Given the description of an element on the screen output the (x, y) to click on. 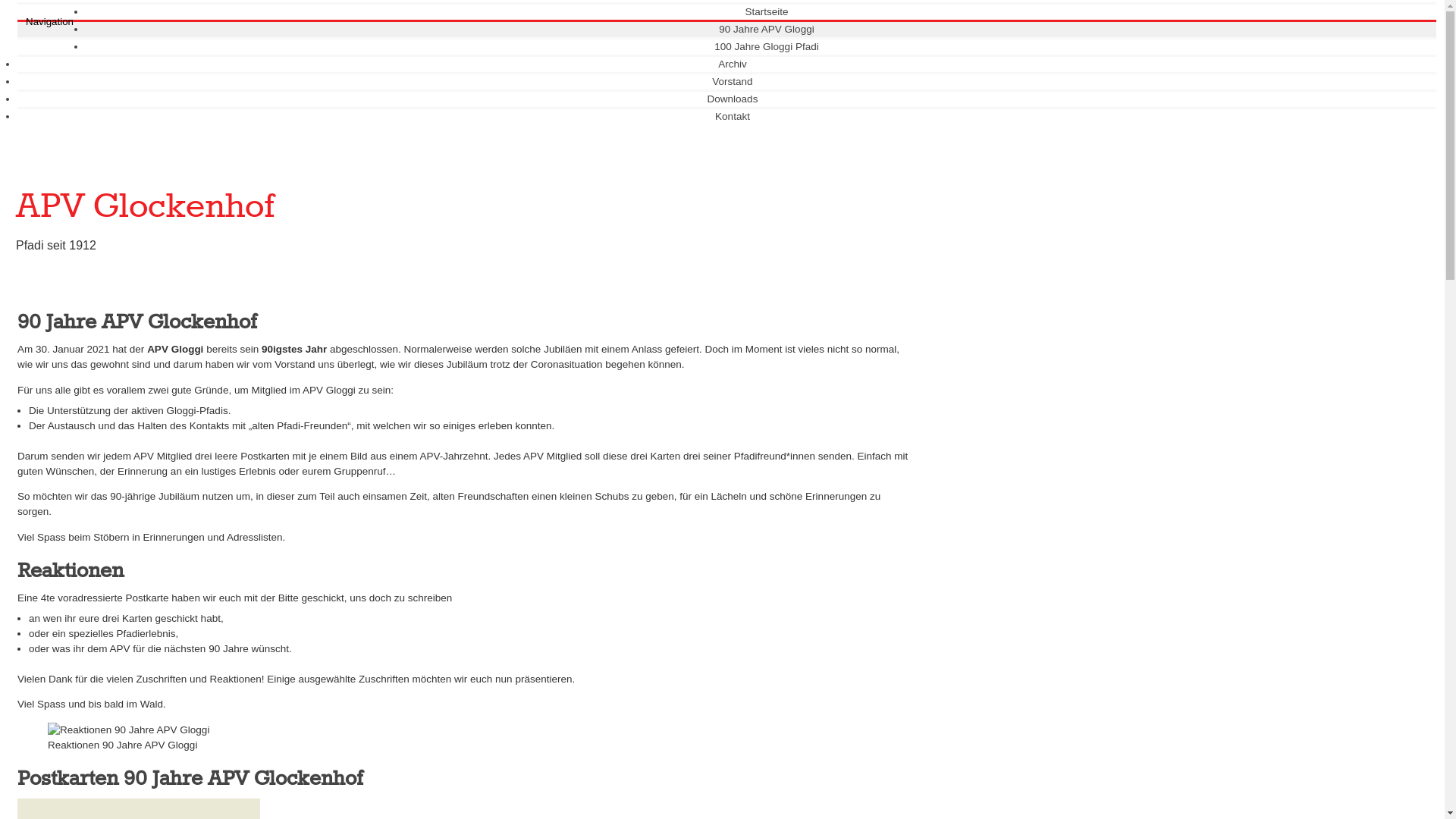
Startseite Element type: text (760, 11)
90 Jahre APV Gloggi Element type: text (760, 28)
Downloads Element type: text (727, 98)
Navigation Element type: text (49, 21)
Vorstand Element type: text (726, 81)
APV Glockenhof Element type: text (145, 207)
Archiv Element type: text (726, 63)
100 Jahre Gloggi Pfadi Element type: text (760, 46)
Kontakt Element type: text (726, 116)
